Given the description of an element on the screen output the (x, y) to click on. 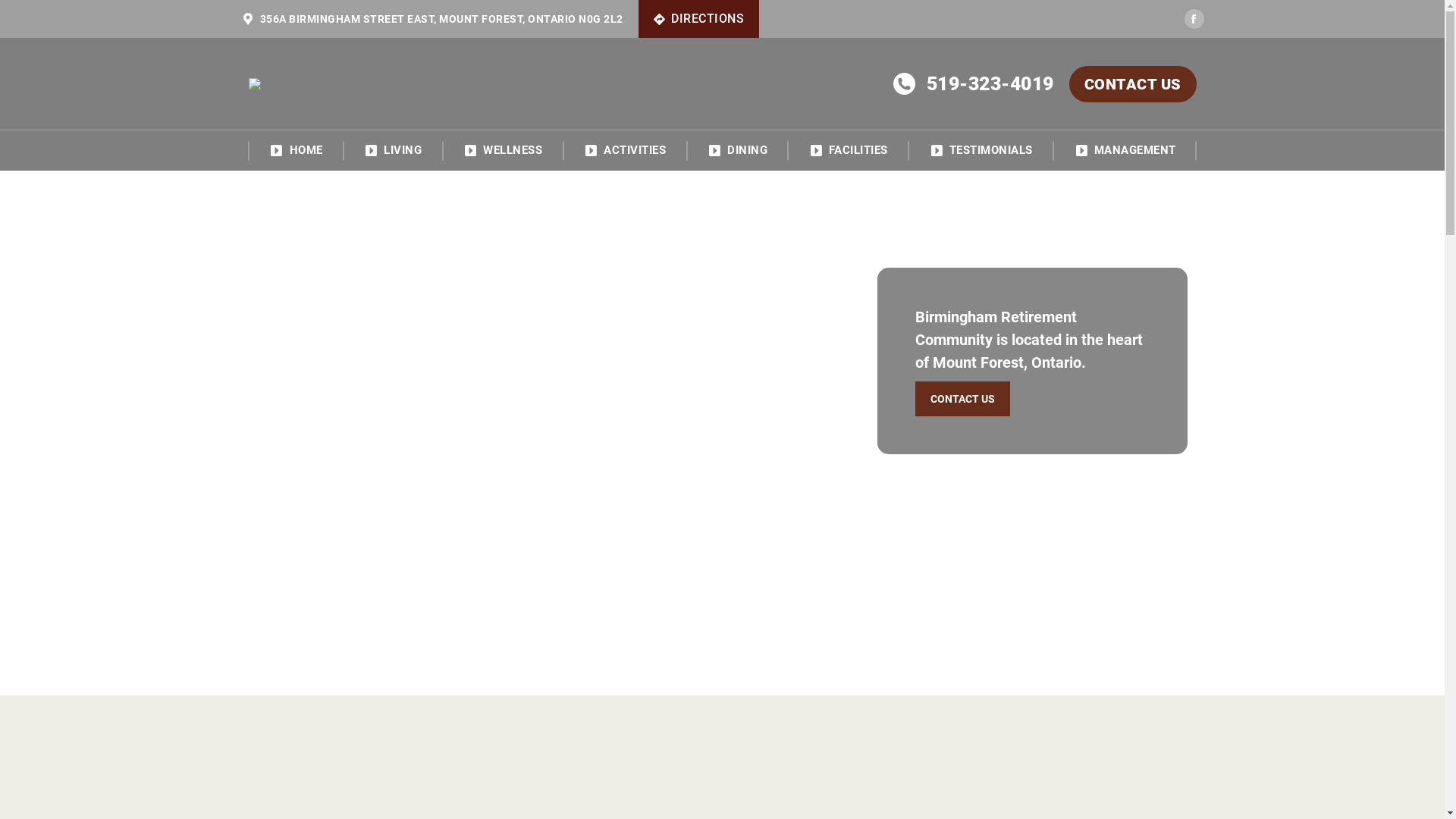
CONTACT US Element type: text (962, 397)
ACTIVITIES Element type: text (624, 145)
WELLNESS Element type: text (502, 145)
TESTIMONIALS Element type: text (980, 145)
HOME Element type: text (295, 145)
DINING Element type: text (736, 145)
DIRECTIONS Element type: text (698, 18)
CONTACT US Element type: text (1132, 83)
LIVING Element type: text (392, 145)
MANAGEMENT Element type: text (1124, 145)
FACILITIES Element type: text (847, 145)
Facebook page opens in new window Element type: text (1194, 18)
